Given the description of an element on the screen output the (x, y) to click on. 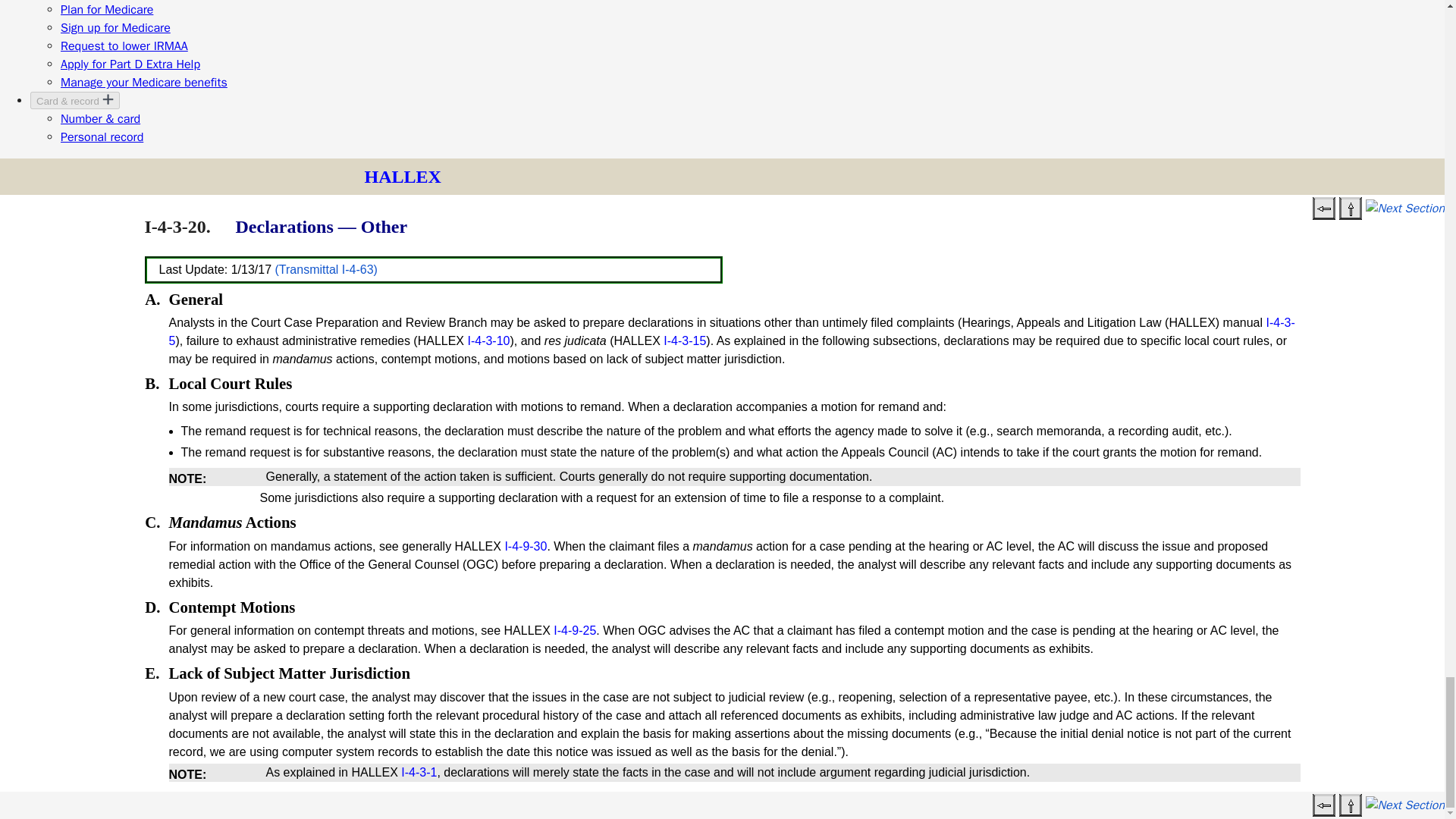
HALLEX (402, 176)
Table of Contents (1350, 208)
I-4-3-20. (176, 226)
Previous Section (1324, 208)
I-4-9-30 (525, 545)
I-4-3-5 (731, 331)
I-4-3-1 (418, 771)
Previous Section (1324, 804)
I-4-3-15 (684, 340)
I-4-9-25 (574, 630)
